Given the description of an element on the screen output the (x, y) to click on. 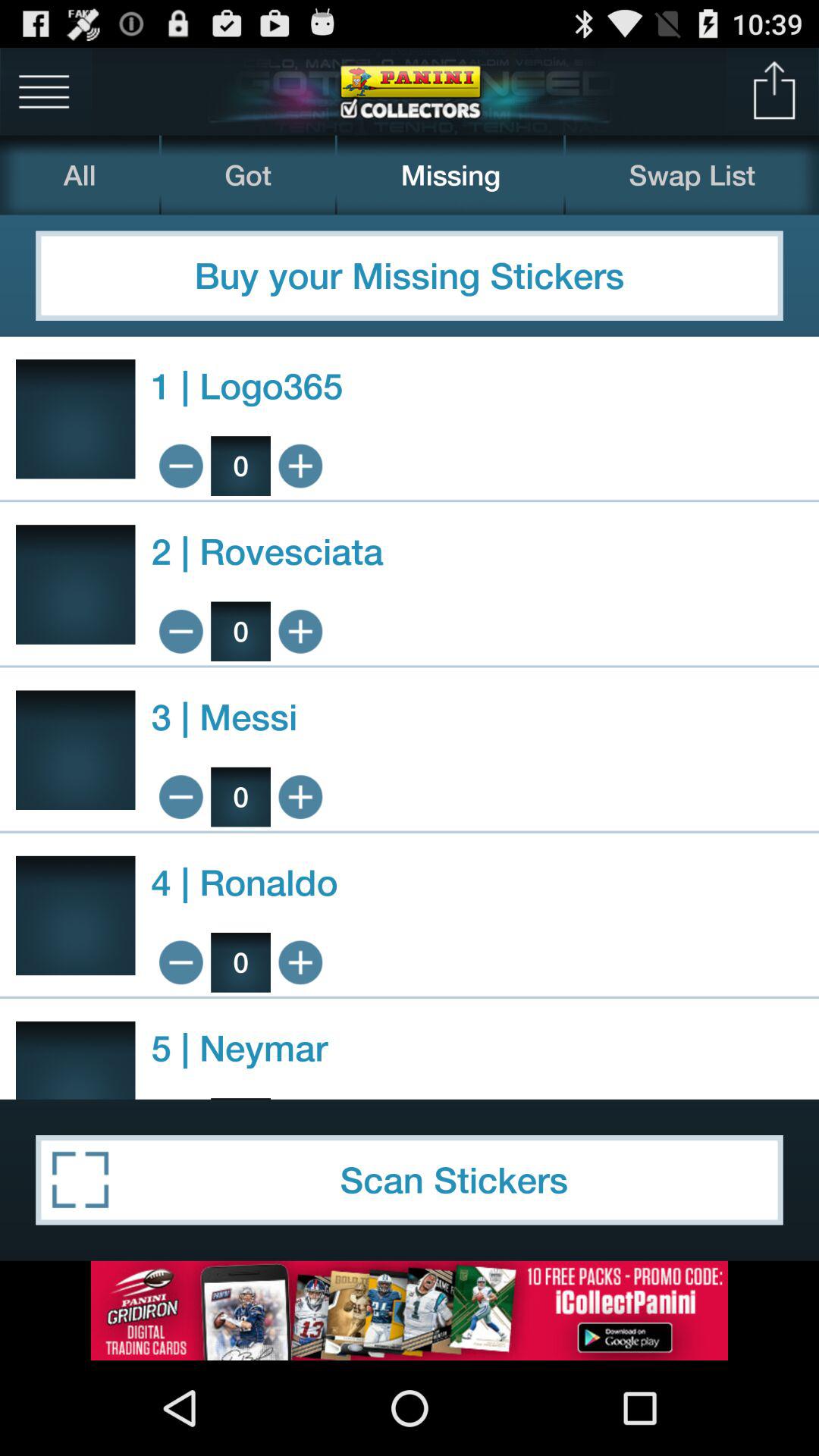
increase button (300, 962)
